Given the description of an element on the screen output the (x, y) to click on. 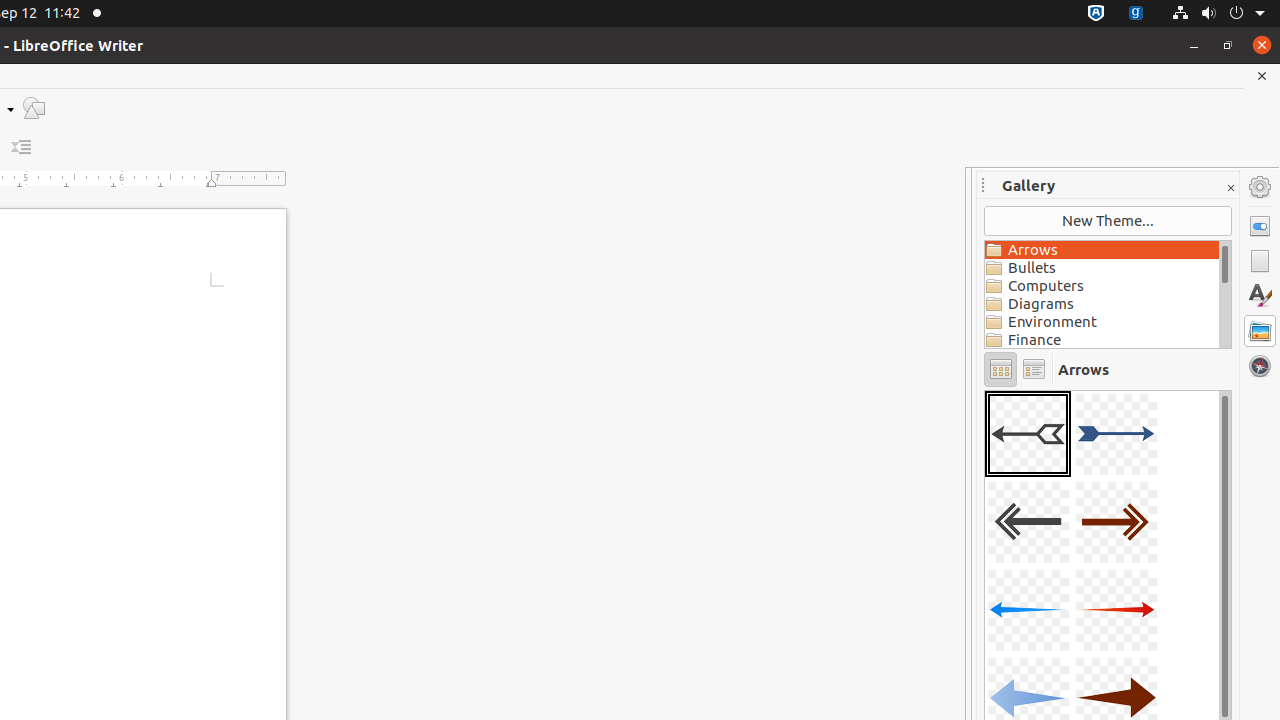
A02-Arrow-DarkBlue-Right Element type: list-item (1116, 433)
System Element type: menu (1218, 13)
